Given the description of an element on the screen output the (x, y) to click on. 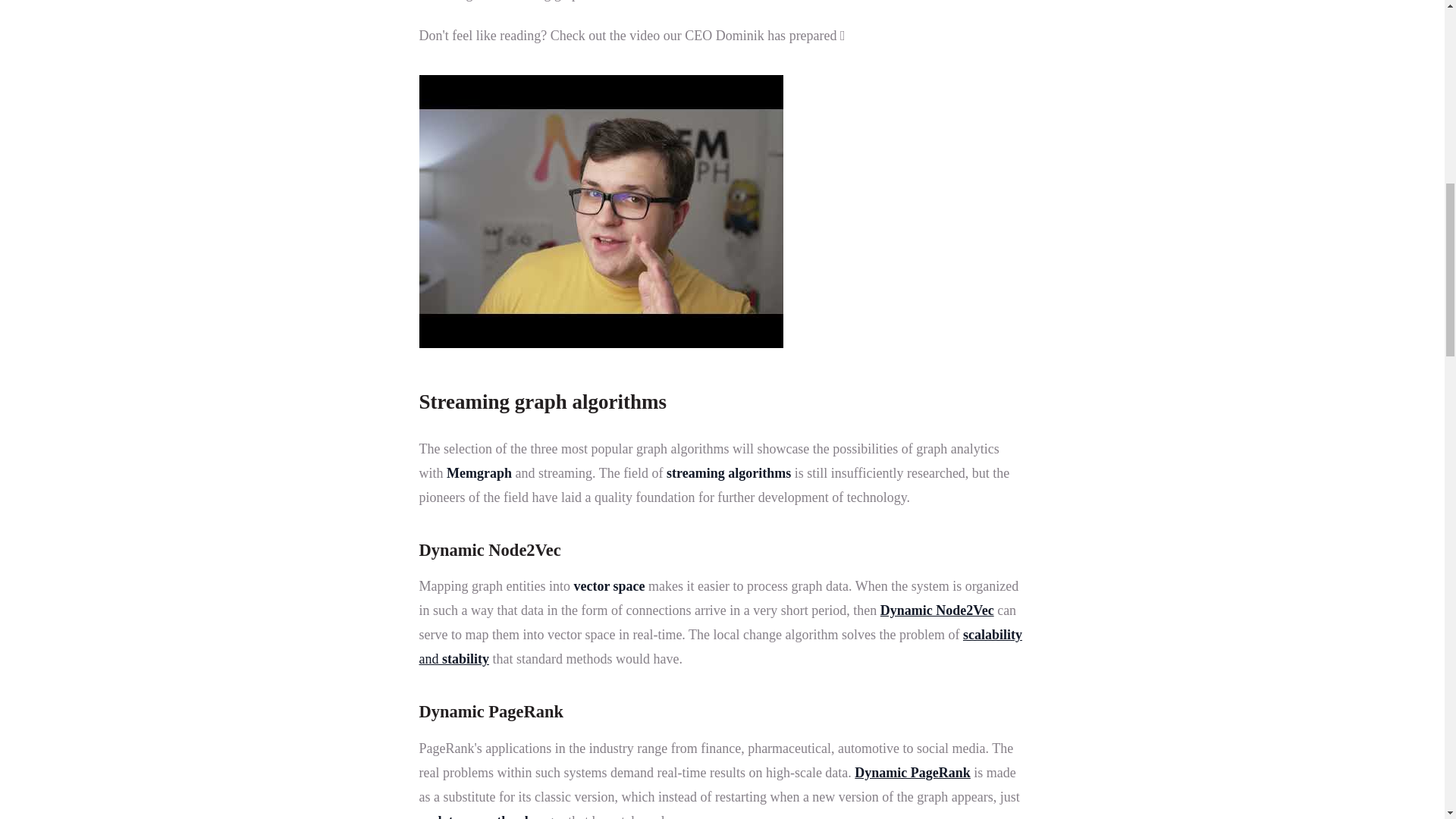
scalability and stability (720, 646)
updates over the changes (491, 816)
Dynamic PageRank (912, 772)
Dynamic Node2Vec (937, 610)
